Given the description of an element on the screen output the (x, y) to click on. 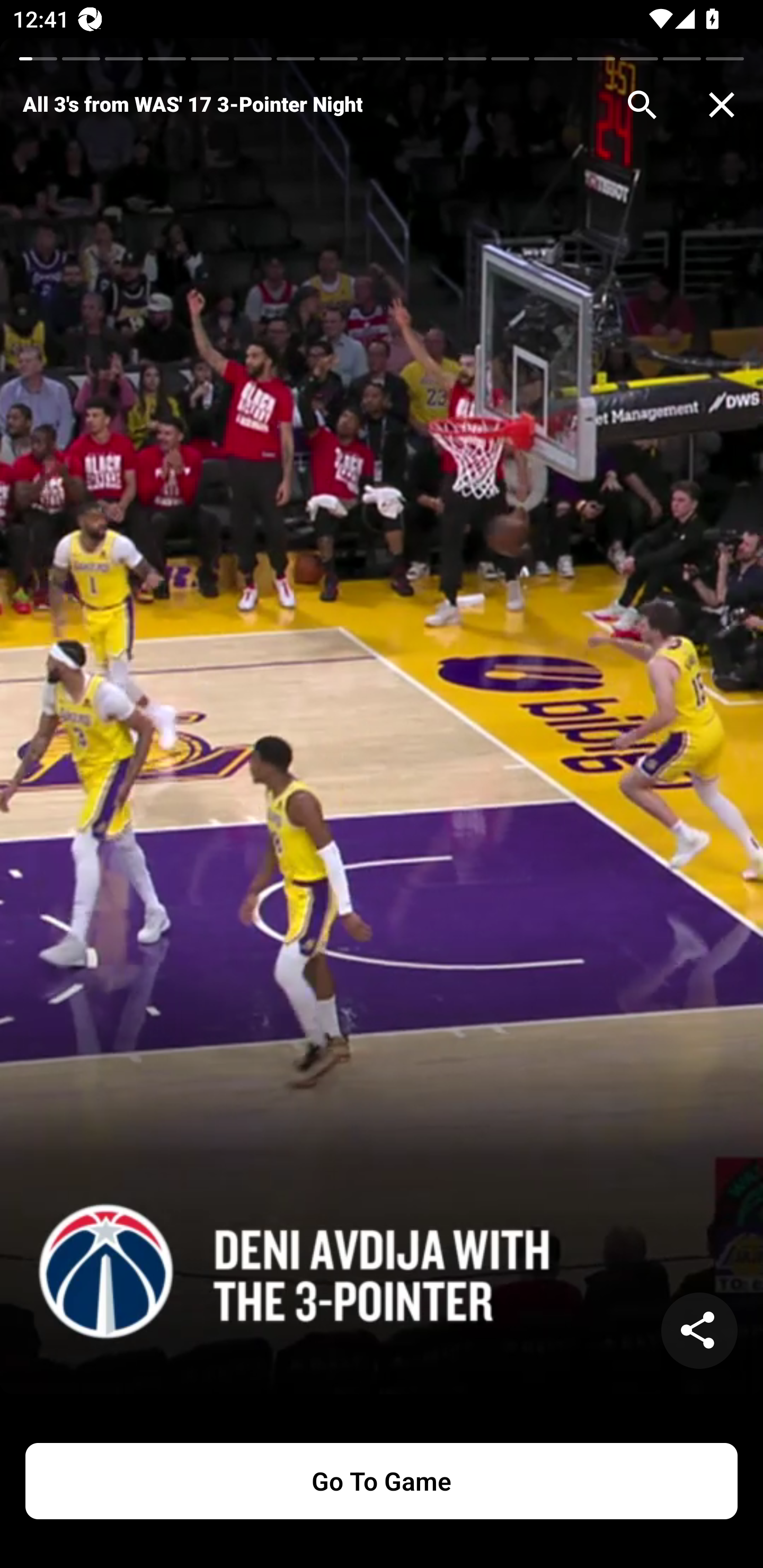
search (642, 104)
close (721, 104)
share (699, 1330)
Go To Game (381, 1480)
